Given the description of an element on the screen output the (x, y) to click on. 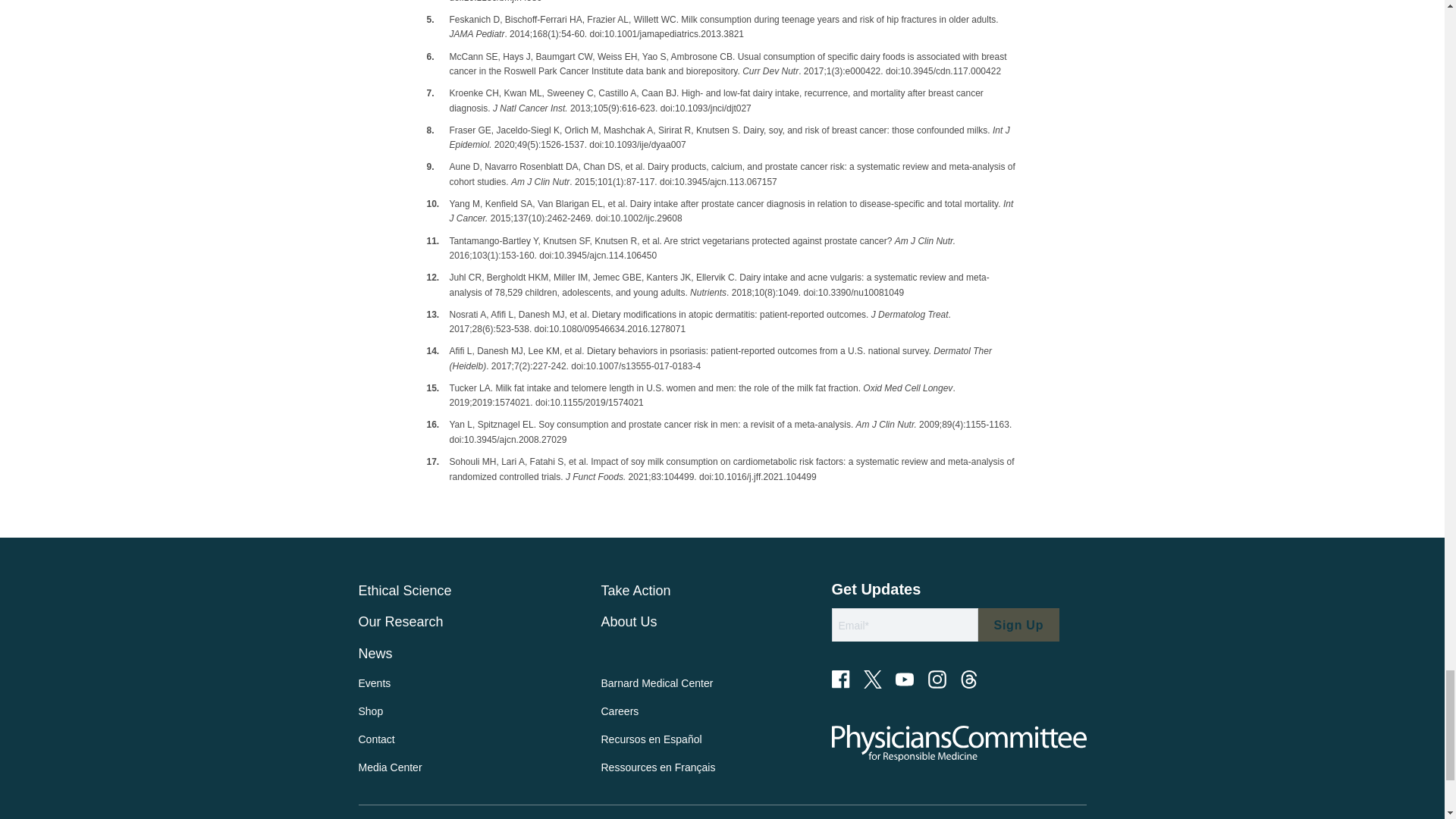
Sign Up (1018, 625)
